Given the description of an element on the screen output the (x, y) to click on. 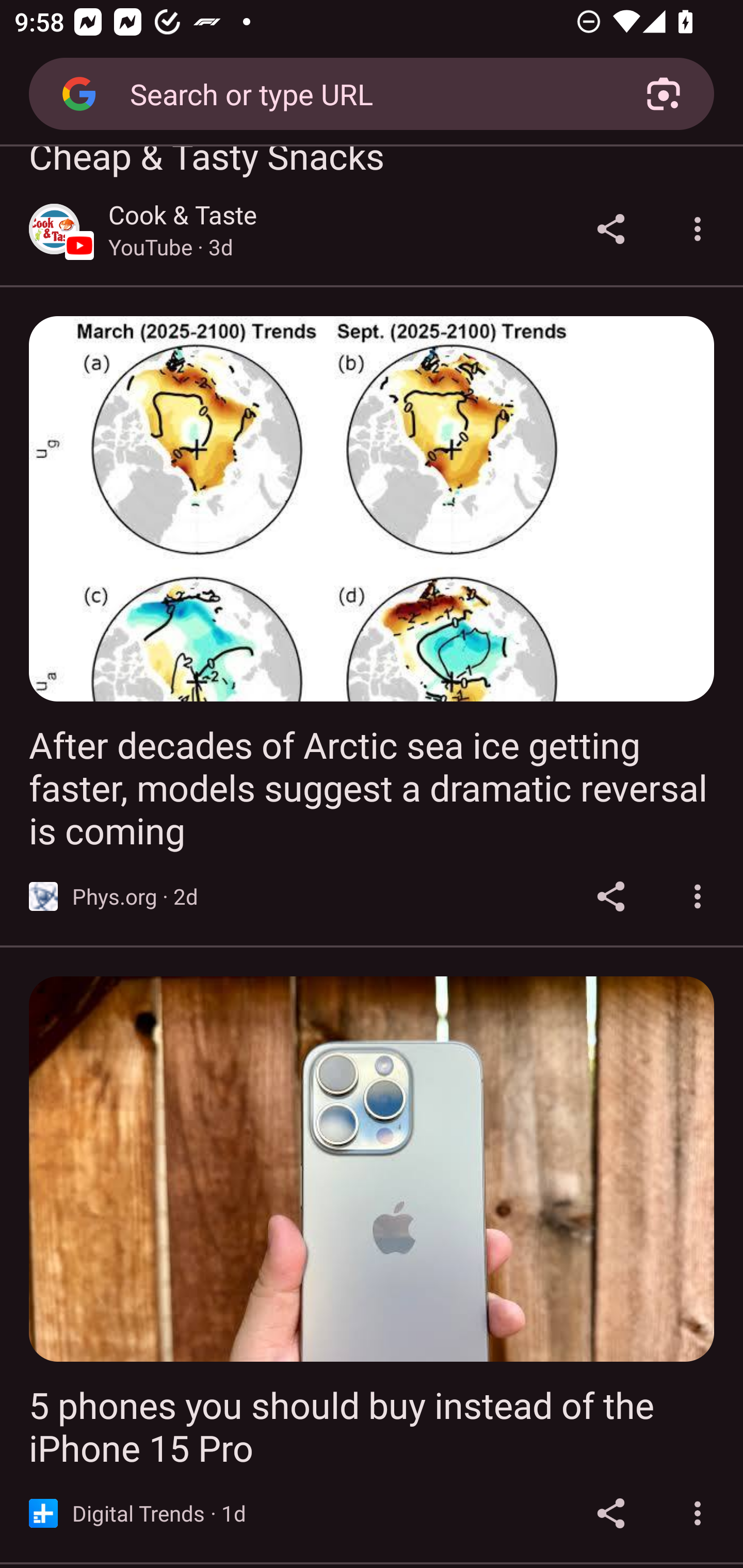
Search with your camera using Google Lens (663, 93)
Search or type URL (364, 92)
